Given the description of an element on the screen output the (x, y) to click on. 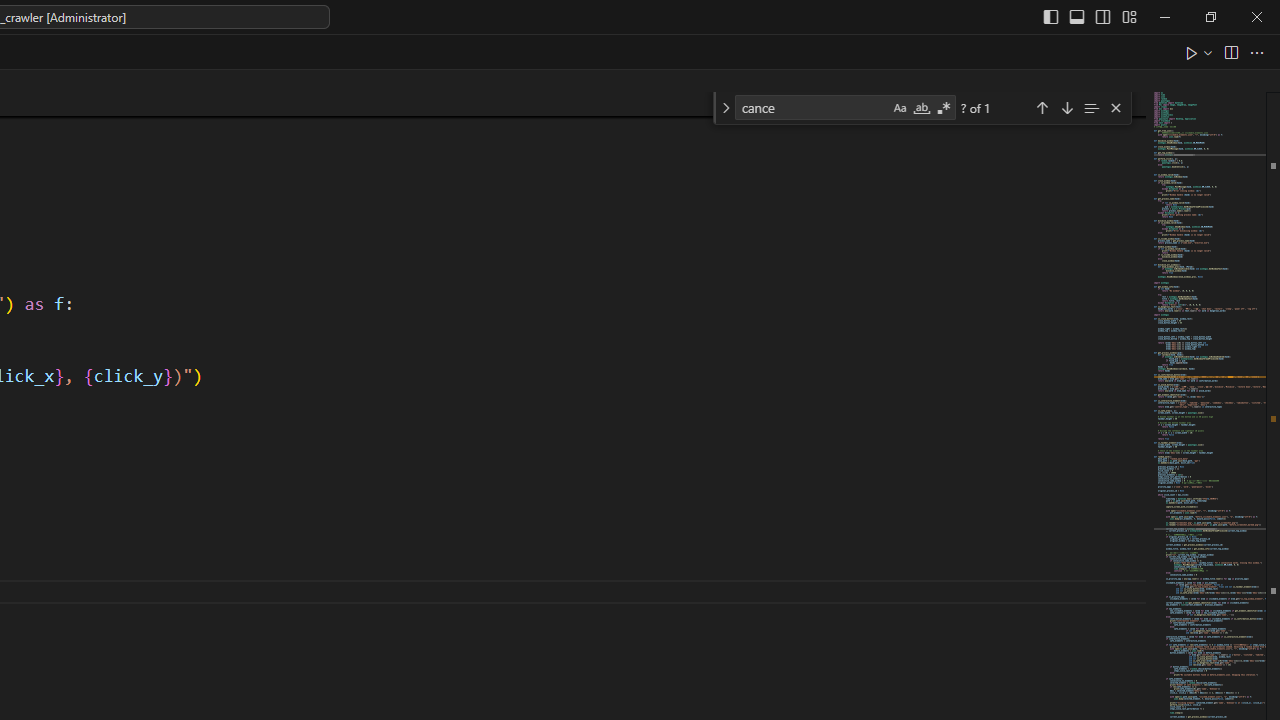
Comments (943, 84)
Styles (523, 188)
